Given the description of an element on the screen output the (x, y) to click on. 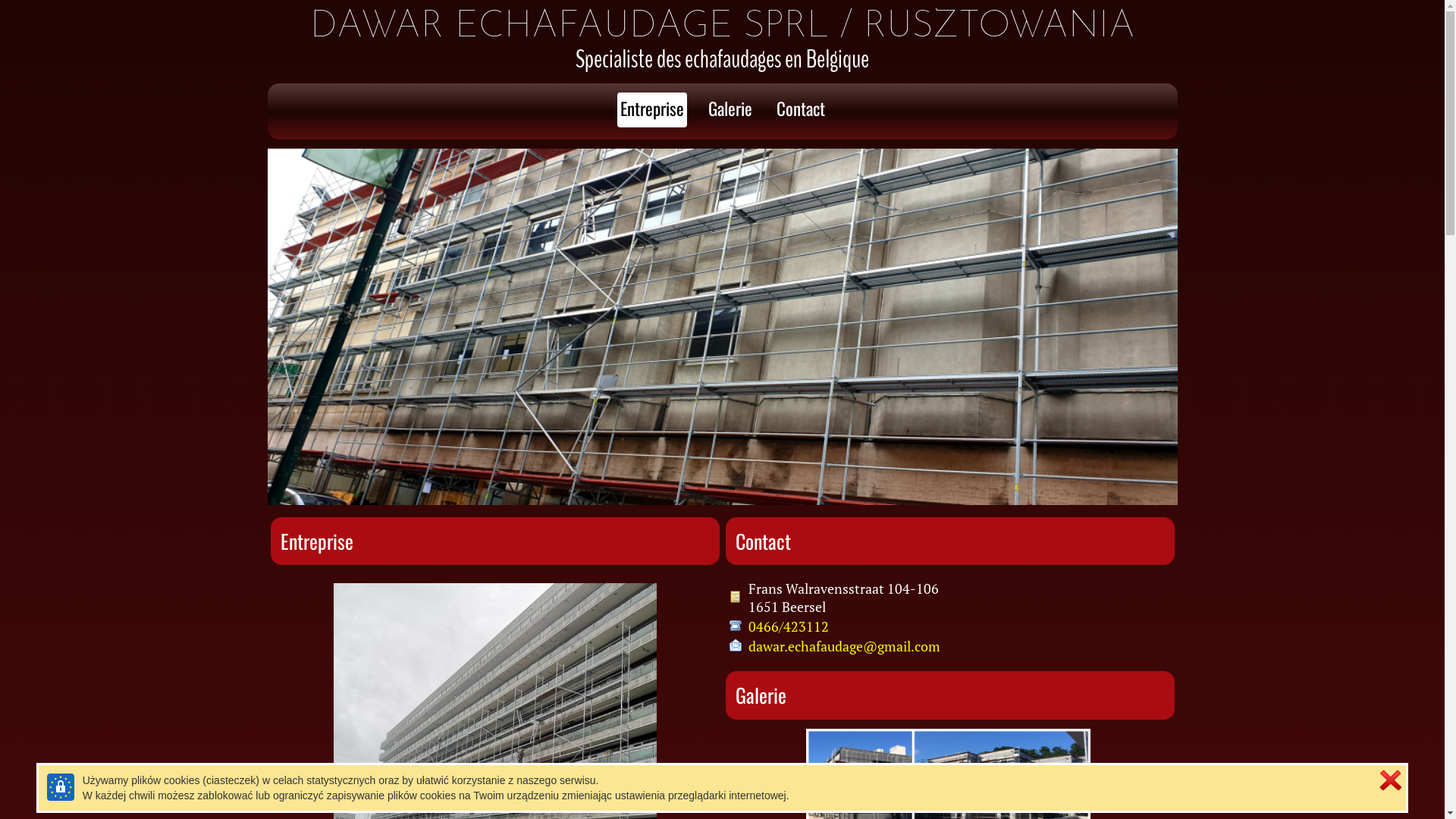
Galerie Element type: text (730, 109)
0466/423112 Element type: text (787, 626)
dawar.echafaudage@gmail.com Element type: text (843, 646)
Entreprise Element type: text (652, 109)
Contact Element type: text (800, 109)
